Given the description of an element on the screen output the (x, y) to click on. 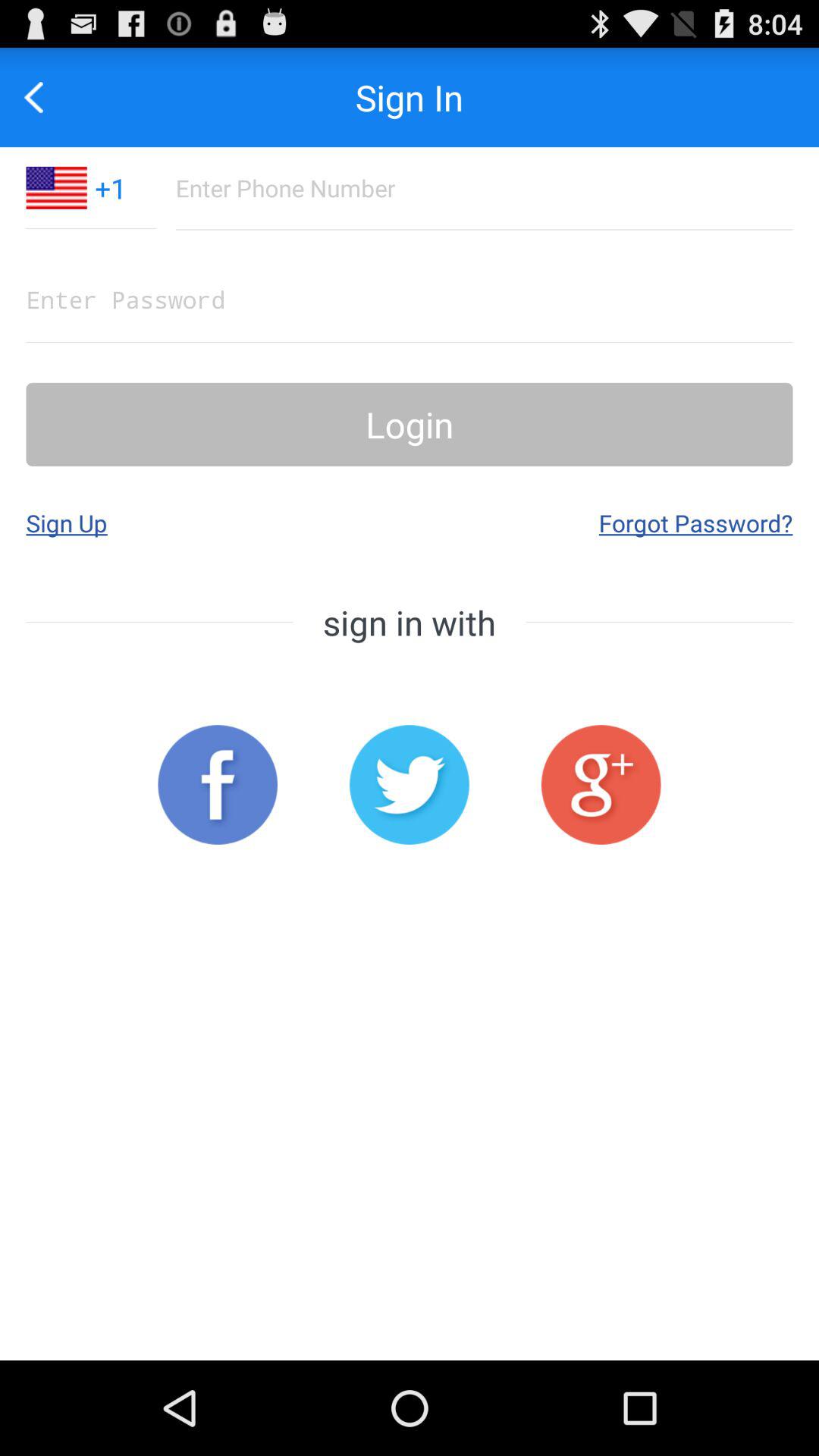
open google sign in page (600, 784)
